Given the description of an element on the screen output the (x, y) to click on. 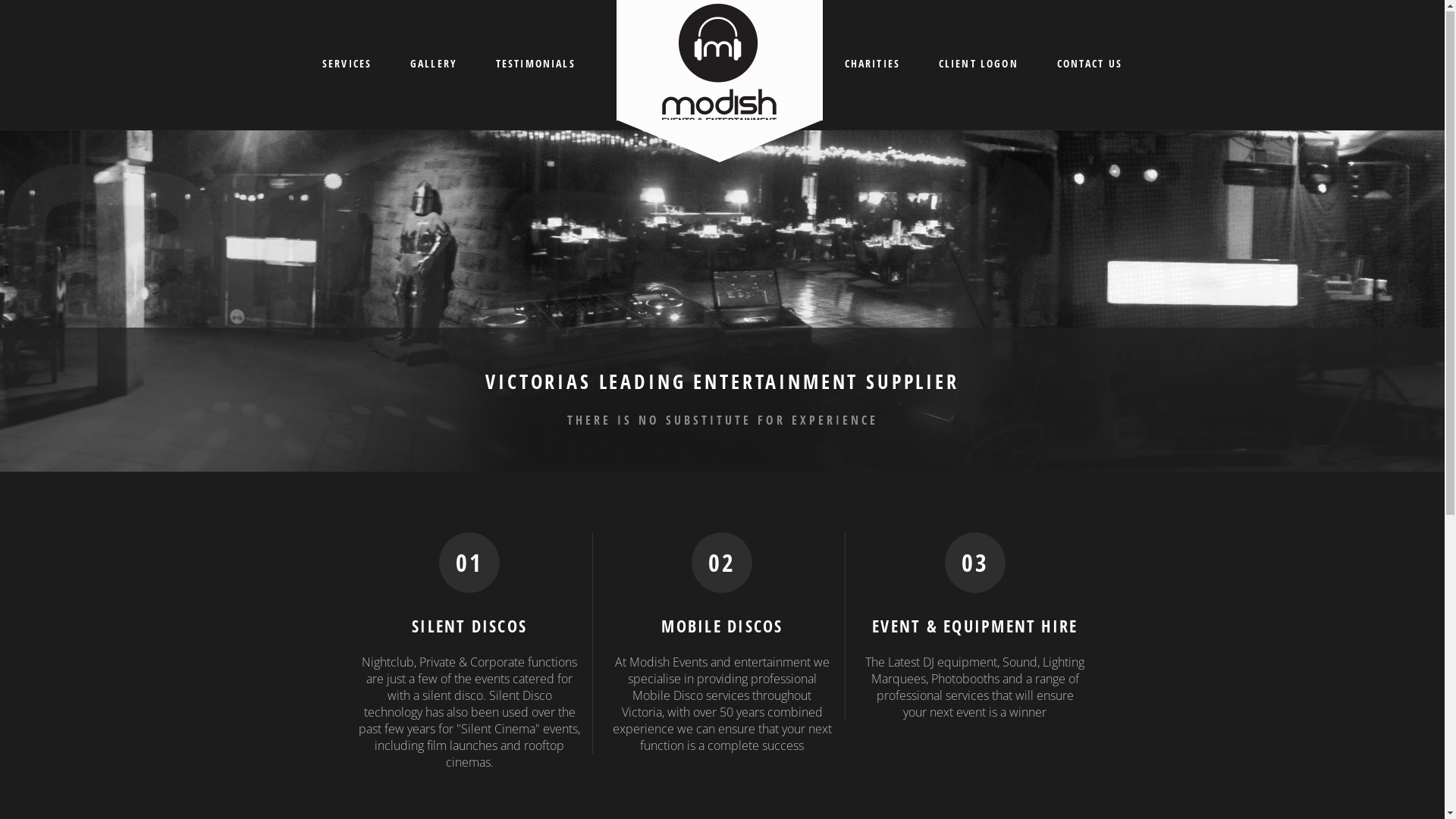
CONTACT US Element type: text (1088, 64)
CLIENT LOGON Element type: text (977, 64)
CHARITIES Element type: text (871, 64)
SERVICES Element type: text (346, 64)
TESTIMONIALS Element type: text (534, 64)
GALLERY Element type: text (433, 64)
